Given the description of an element on the screen output the (x, y) to click on. 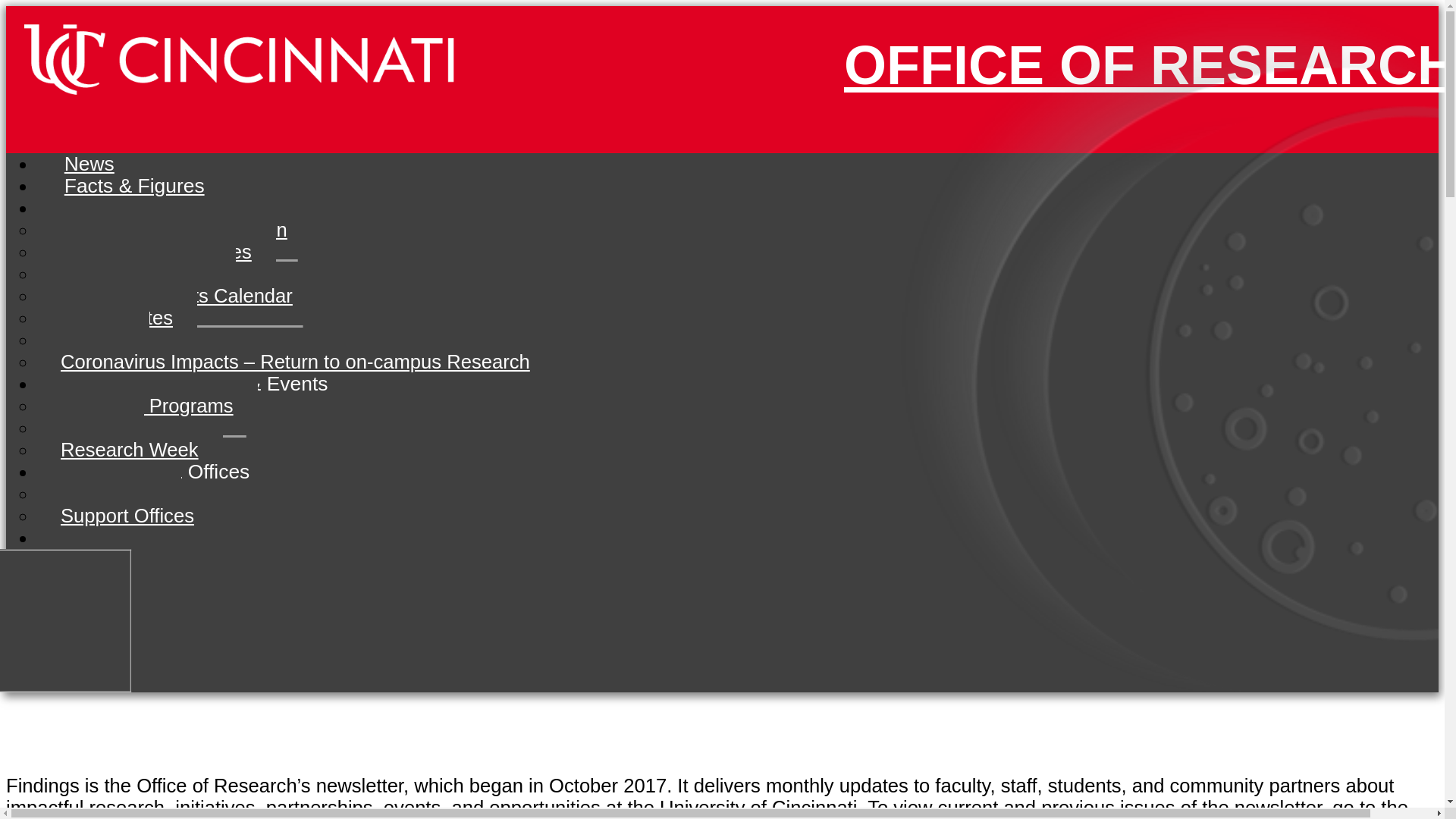
International Collaboration (173, 229)
Events (90, 427)
Research Week (129, 449)
Leadership (108, 493)
News (89, 163)
Signature Programs (146, 405)
OFFICE OF RESEARCH (1140, 65)
Research Events Calendar (176, 295)
Toggle Search (70, 536)
CCTST (92, 339)
For Researchers (144, 207)
Partner Sites (116, 317)
Researcher Tools (135, 273)
Support Offices (127, 515)
Funding Opportunities (156, 251)
